Given the description of an element on the screen output the (x, y) to click on. 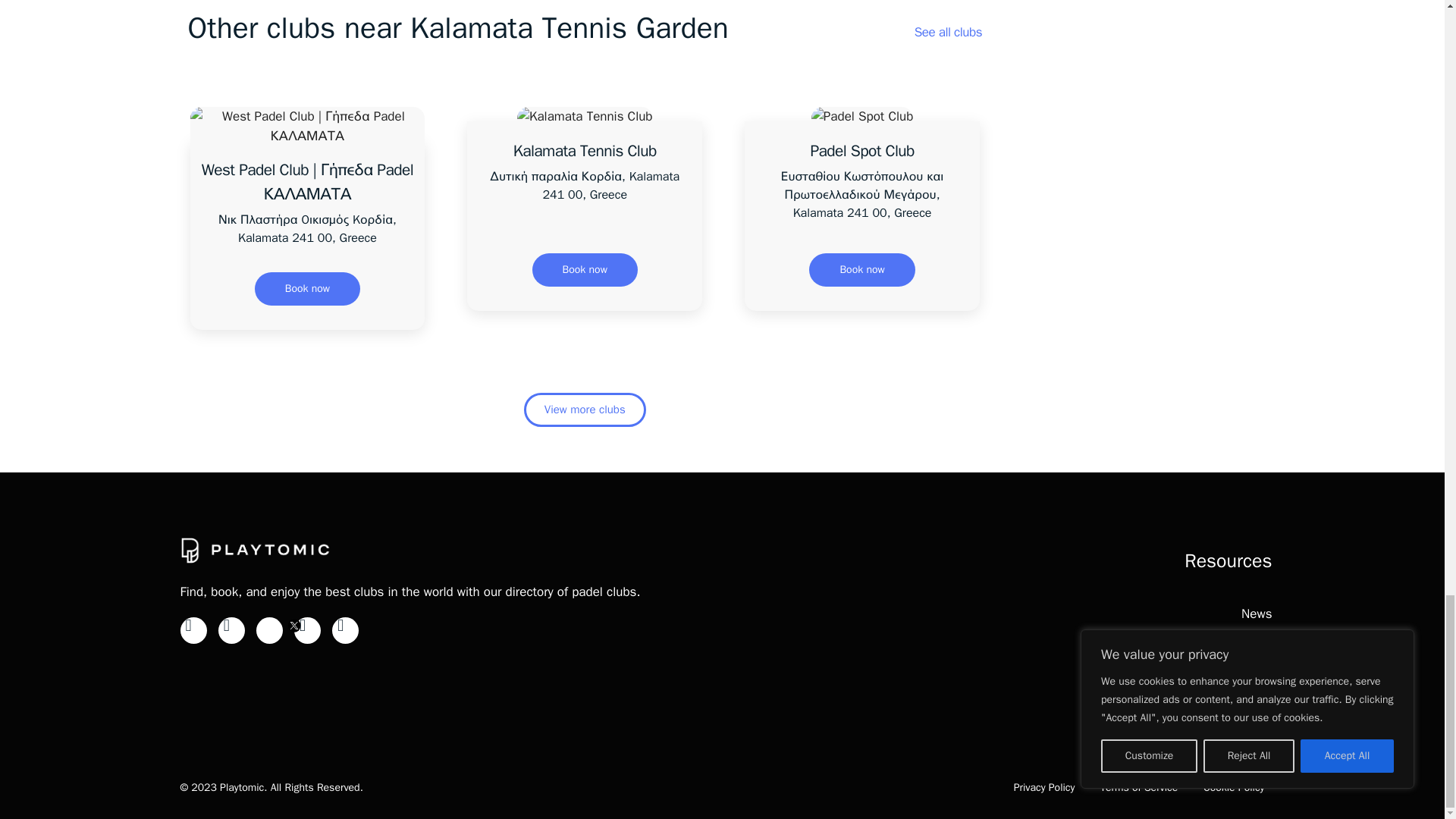
View more clubs (585, 409)
Book now (306, 288)
See all clubs (947, 32)
Book now (584, 269)
Book now (861, 269)
